Given the description of an element on the screen output the (x, y) to click on. 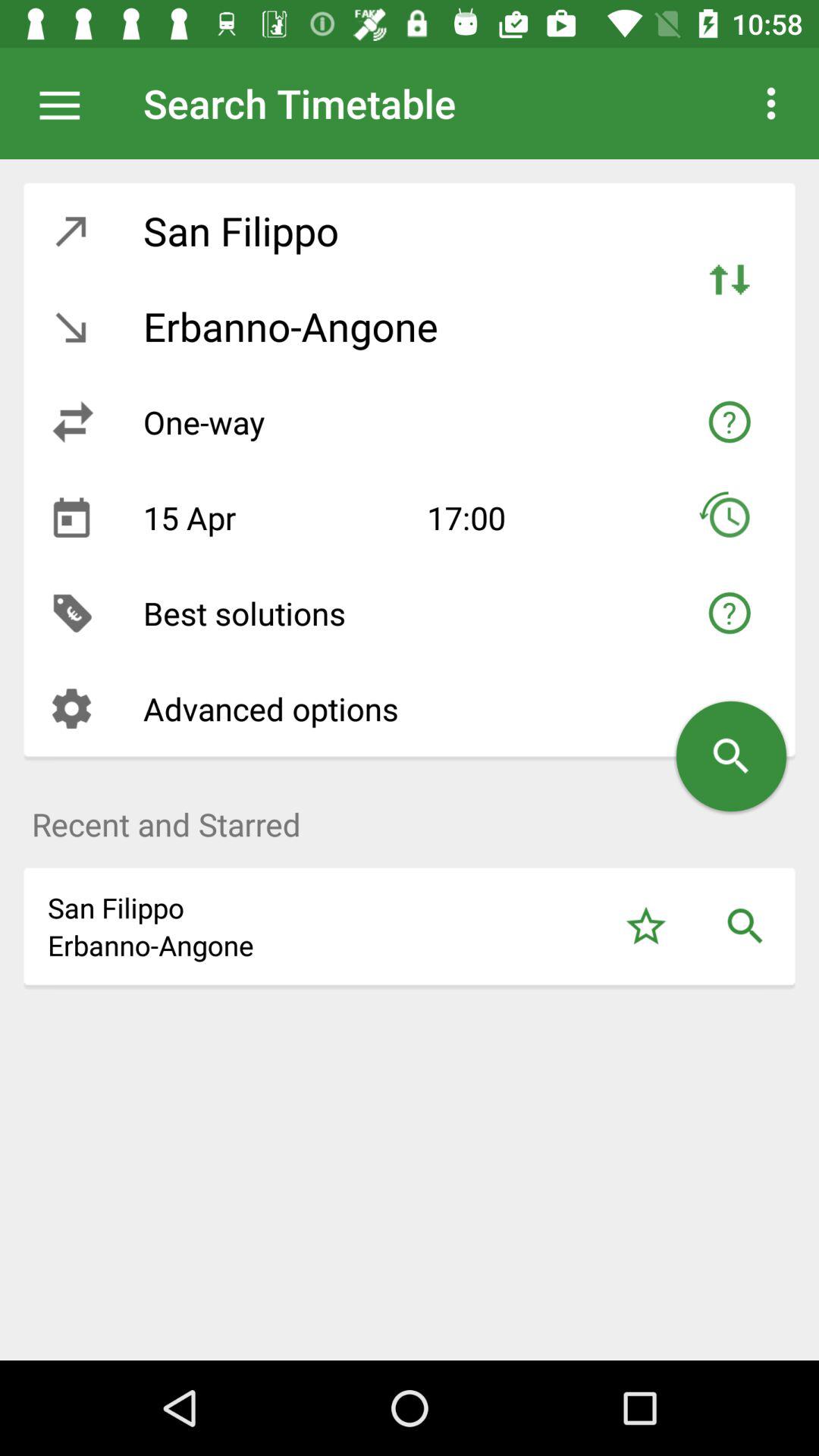
tap the 17:00 icon (533, 517)
